Given the description of an element on the screen output the (x, y) to click on. 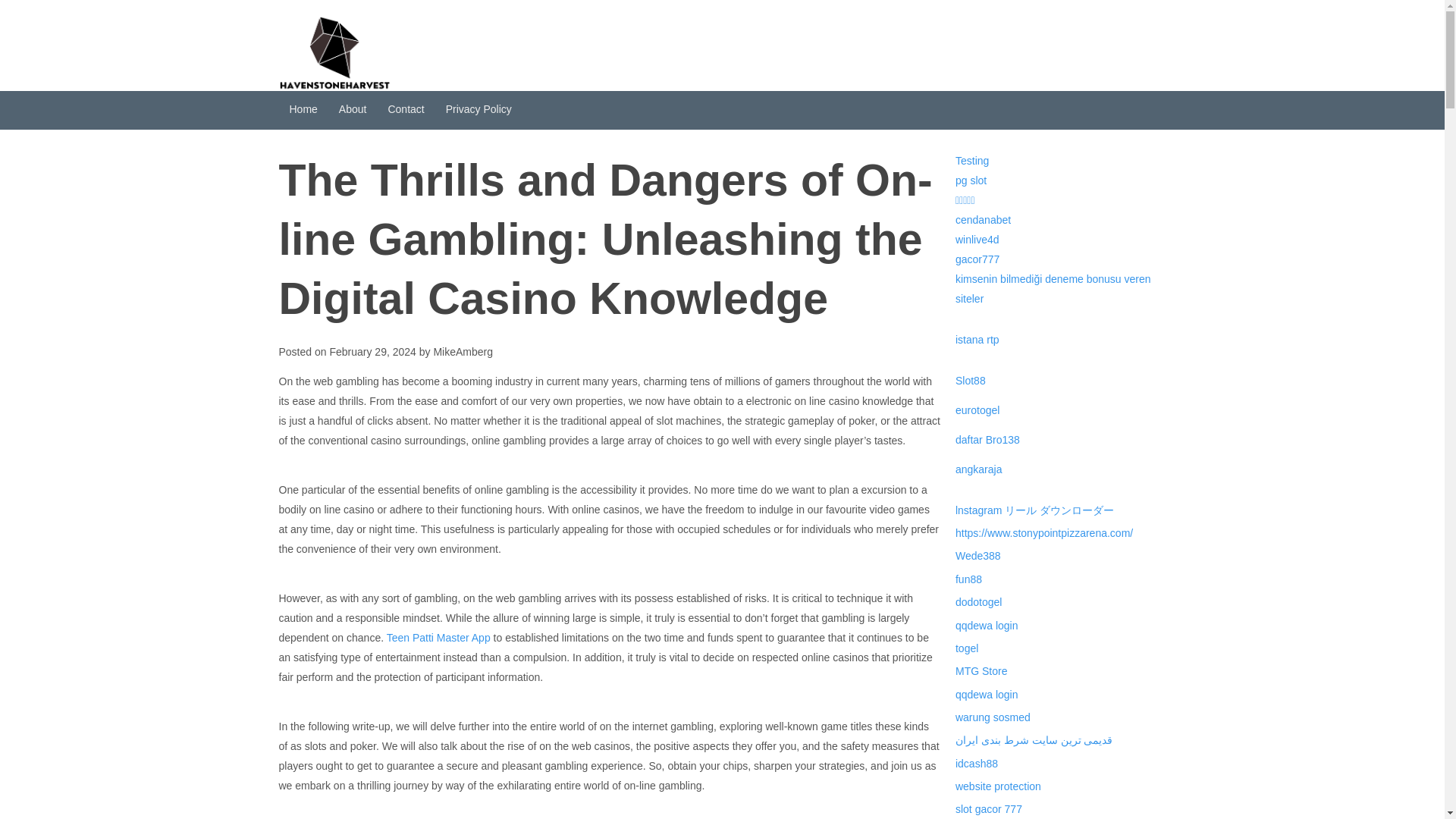
istana rtp (976, 339)
dodotogel (979, 602)
Home (304, 109)
cendanabet (982, 219)
winlive4d (976, 239)
gacor777 (976, 259)
Contact (405, 109)
February 29, 2024 (371, 351)
About (353, 109)
pg slot (971, 180)
